Given the description of an element on the screen output the (x, y) to click on. 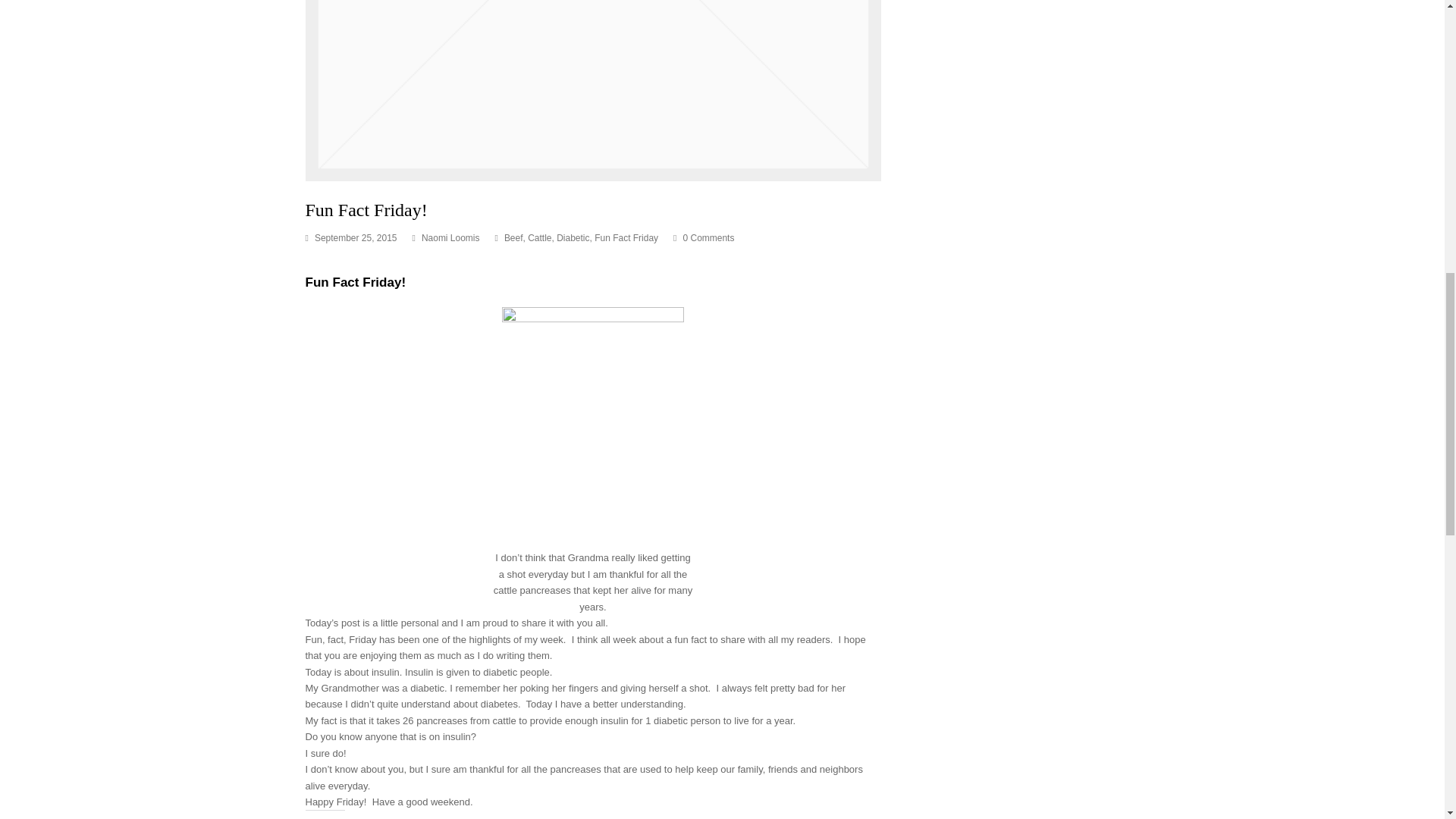
Cattle (539, 237)
0 Comments (707, 237)
Fun Fact Friday (626, 237)
0 Comments (702, 238)
Cattle (539, 237)
Beef (512, 237)
Beef (512, 237)
Diabetic (572, 237)
Posts by Naomi Loomis (451, 237)
Naomi Loomis (451, 237)
Diabetic (572, 237)
Fun Fact Friday (626, 237)
